Given the description of an element on the screen output the (x, y) to click on. 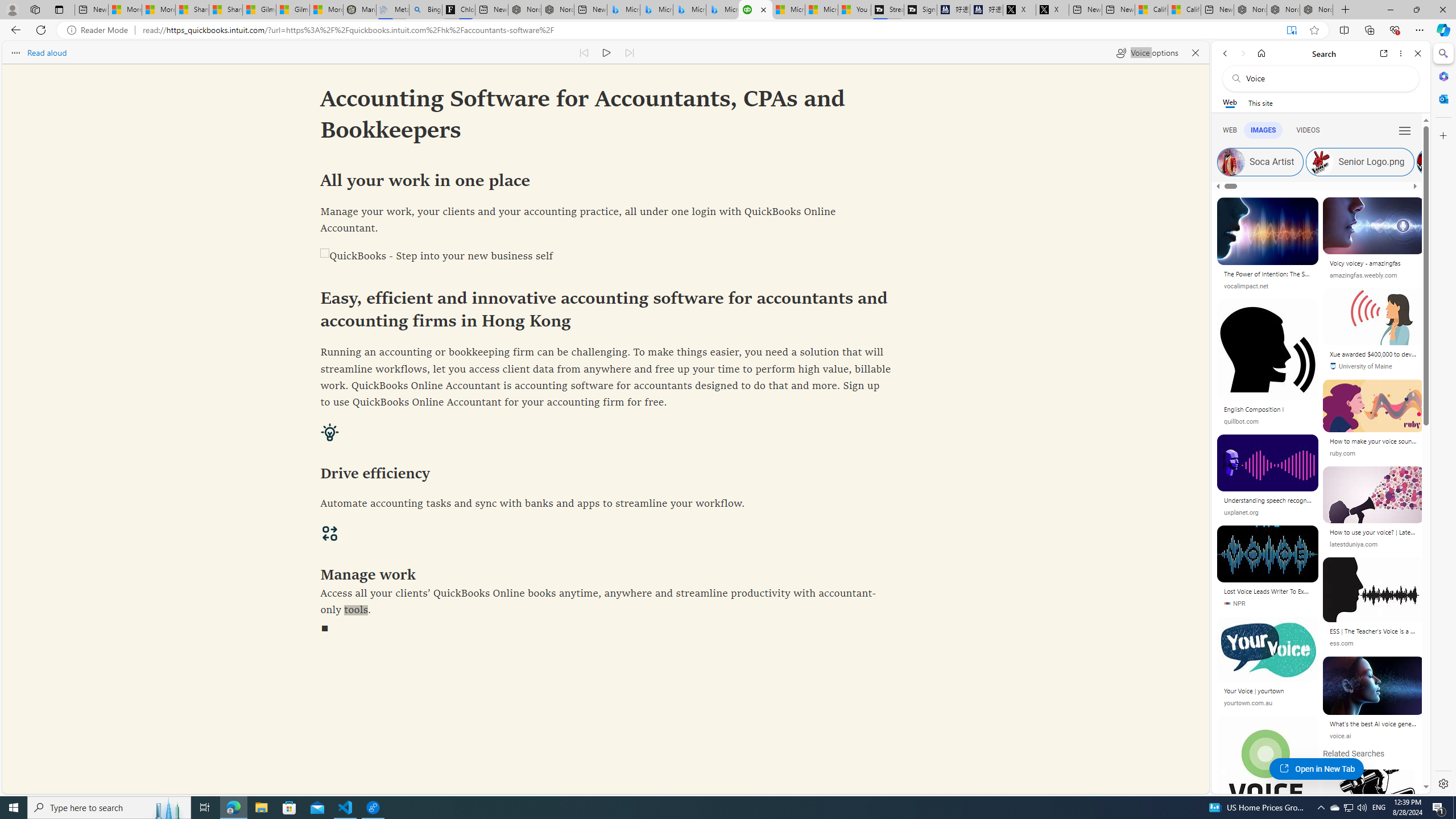
voice.ai (1340, 735)
voice.ai (1372, 735)
yourtown.com.au (1248, 702)
Nordace - Best Sellers (1249, 9)
What's the best AI voice generator? - voice.ai (1372, 723)
Soca Artist (1230, 162)
Customize (1442, 135)
QuickBooks - Step into your new business self (605, 256)
Image result for Voice (1373, 685)
